Given the description of an element on the screen output the (x, y) to click on. 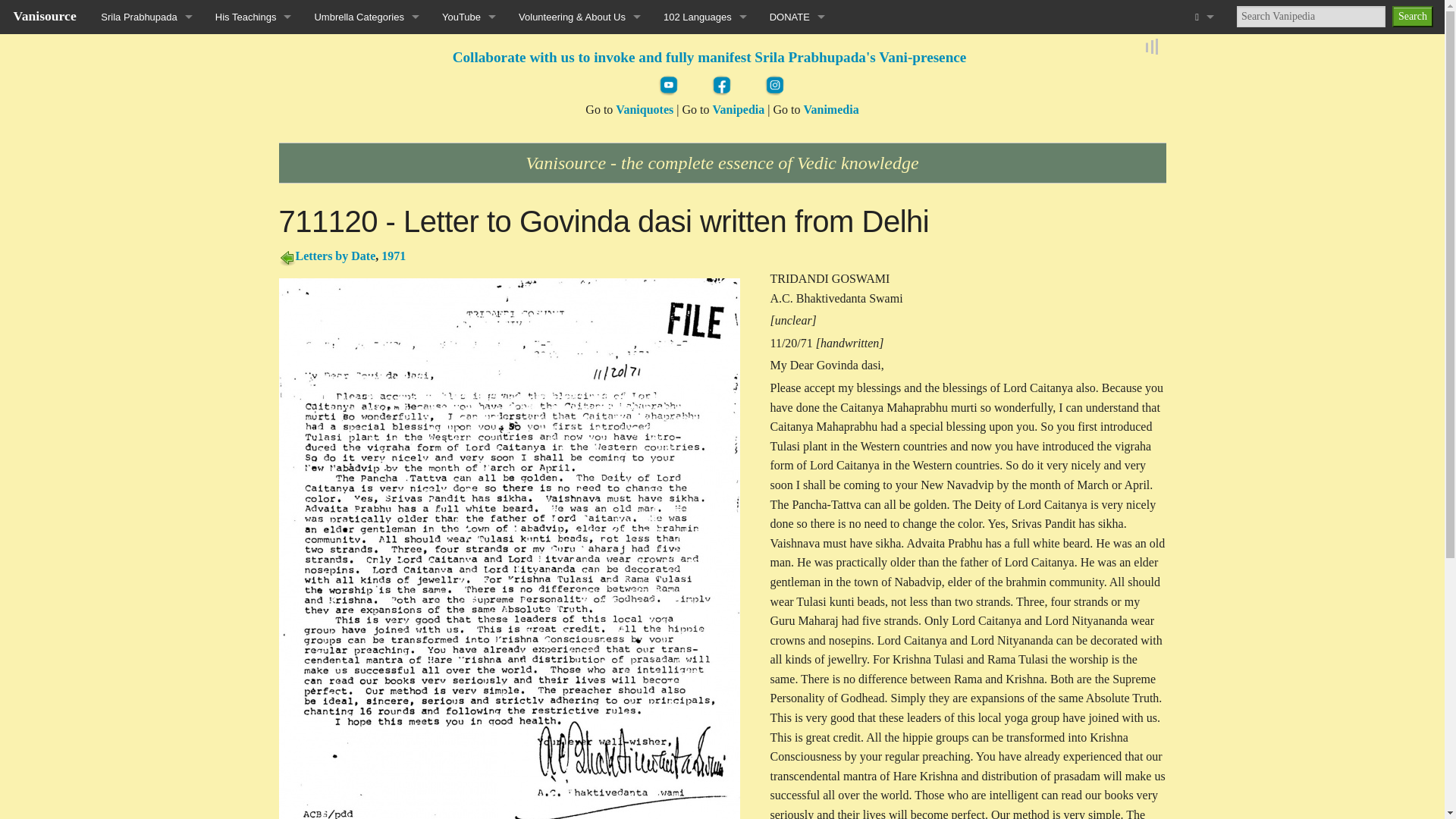
vanimedia:Main Page (831, 109)
vanipedia:Main Page (737, 109)
Category:1971 - Letters (393, 255)
Srila Prabhupada (145, 17)
vaniquotes:Main Page (643, 109)
Vanisource (44, 15)
Category:Letters - by Date (287, 255)
Search (1411, 16)
Category:Letters - by Date (335, 255)
